Given the description of an element on the screen output the (x, y) to click on. 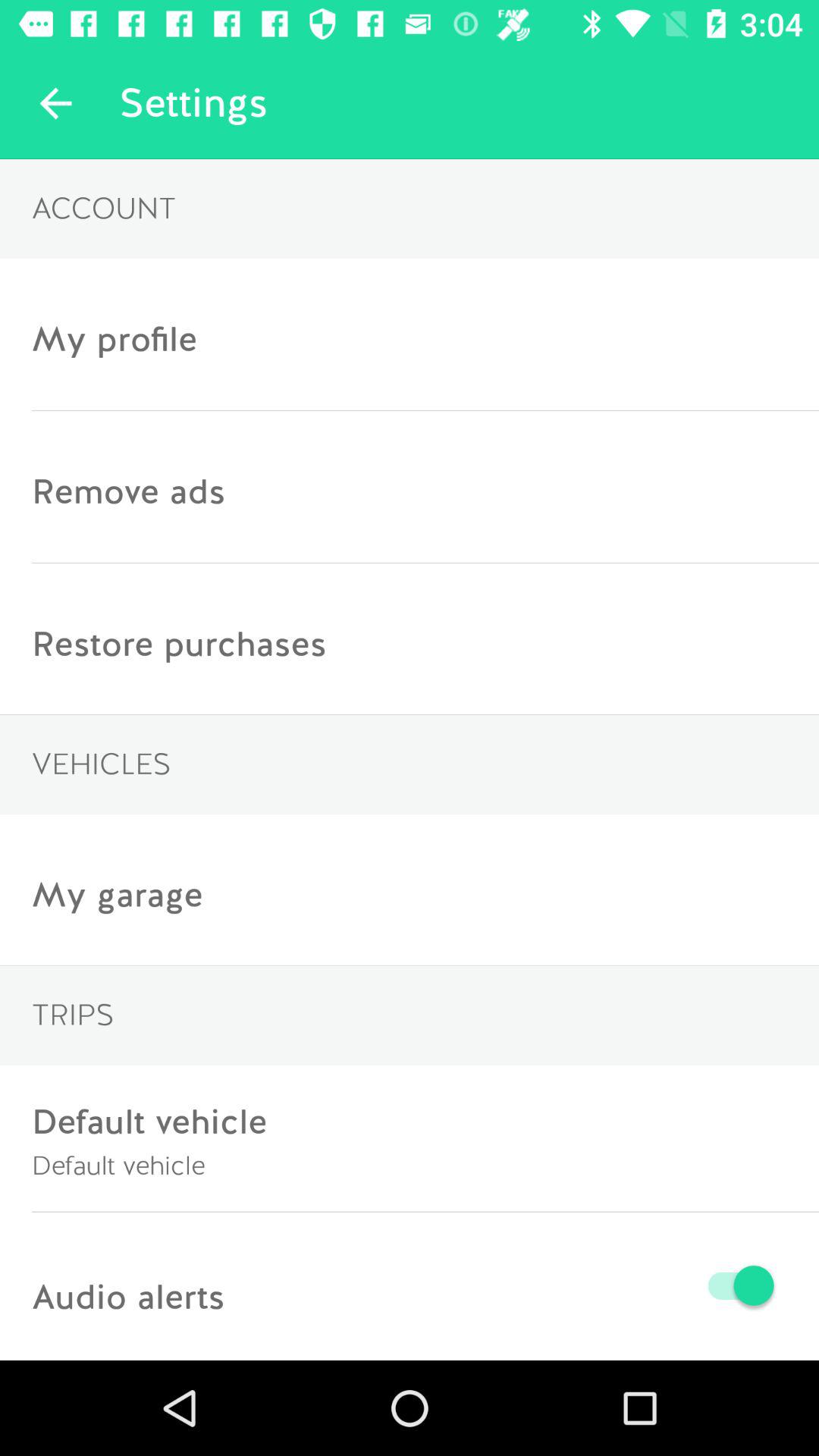
open icon above account (55, 103)
